Given the description of an element on the screen output the (x, y) to click on. 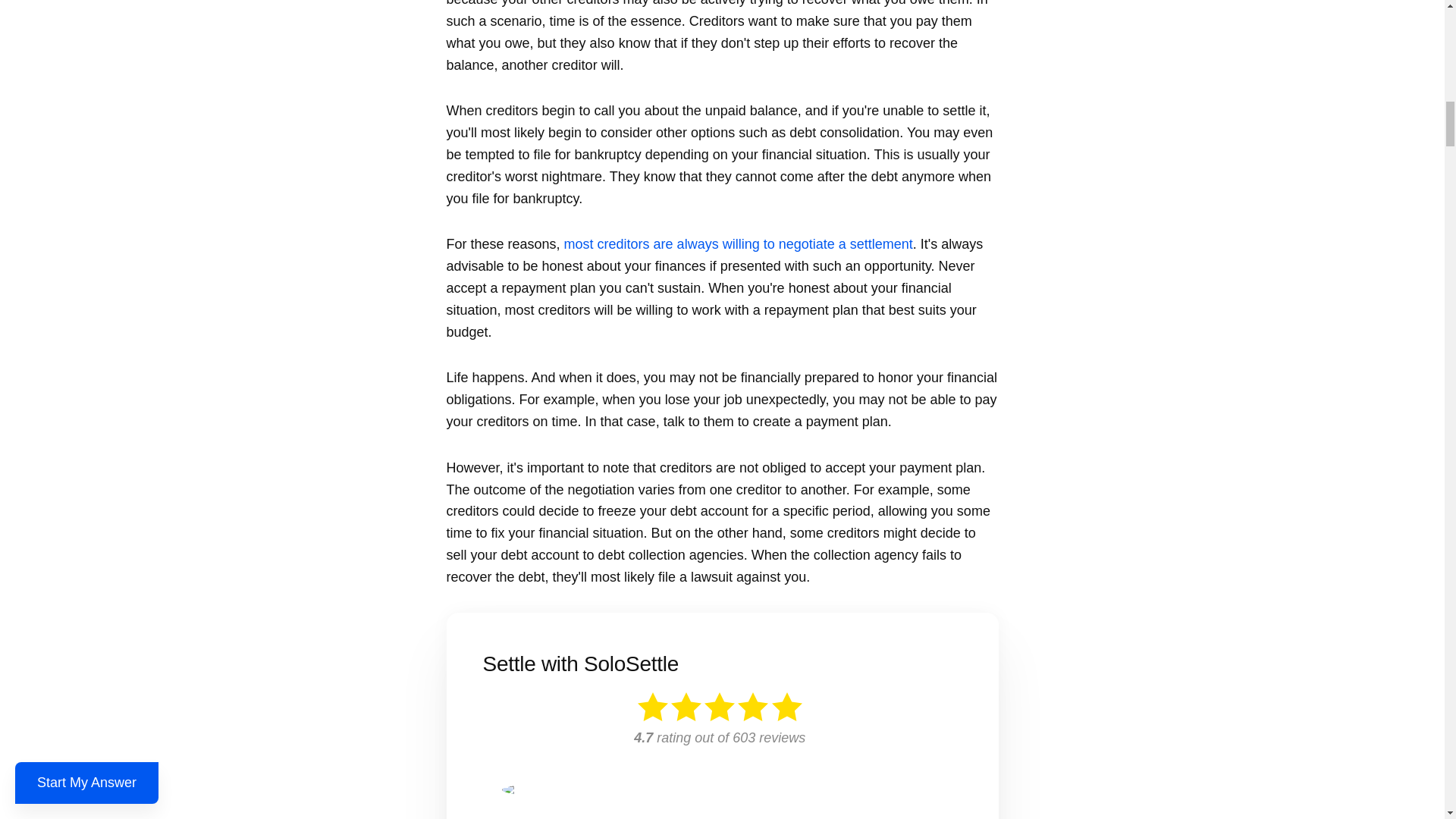
most creditors are always willing to negotiate a settlement (738, 243)
EmbedReviews widget (720, 747)
